Given the description of an element on the screen output the (x, y) to click on. 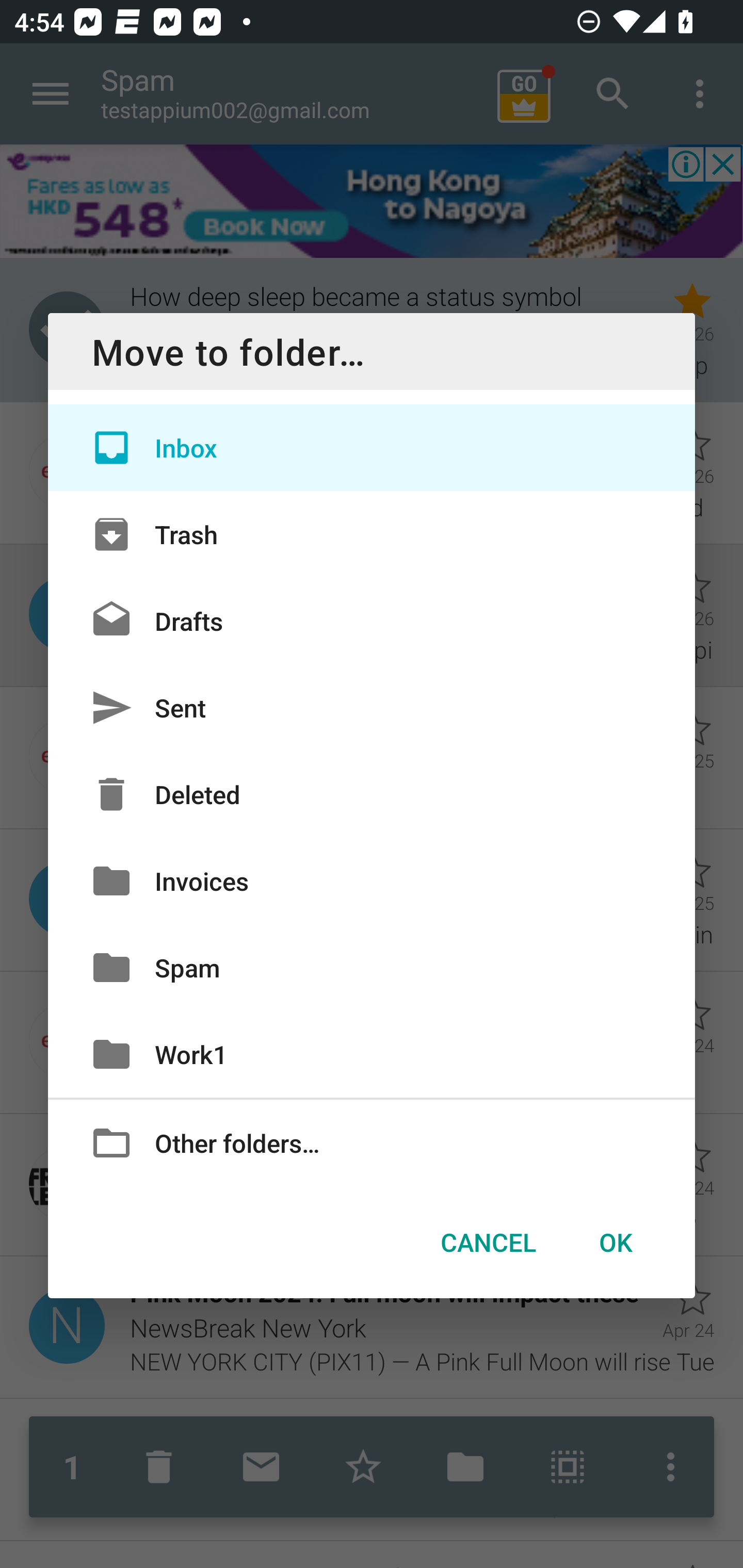
Inbox (371, 447)
Trash (371, 533)
Drafts (371, 620)
Sent (371, 707)
Deleted (371, 794)
Invoices (371, 880)
Spam (371, 967)
Work1 (371, 1054)
Other folders… (371, 1141)
CANCEL (488, 1241)
OK (615, 1241)
